Given the description of an element on the screen output the (x, y) to click on. 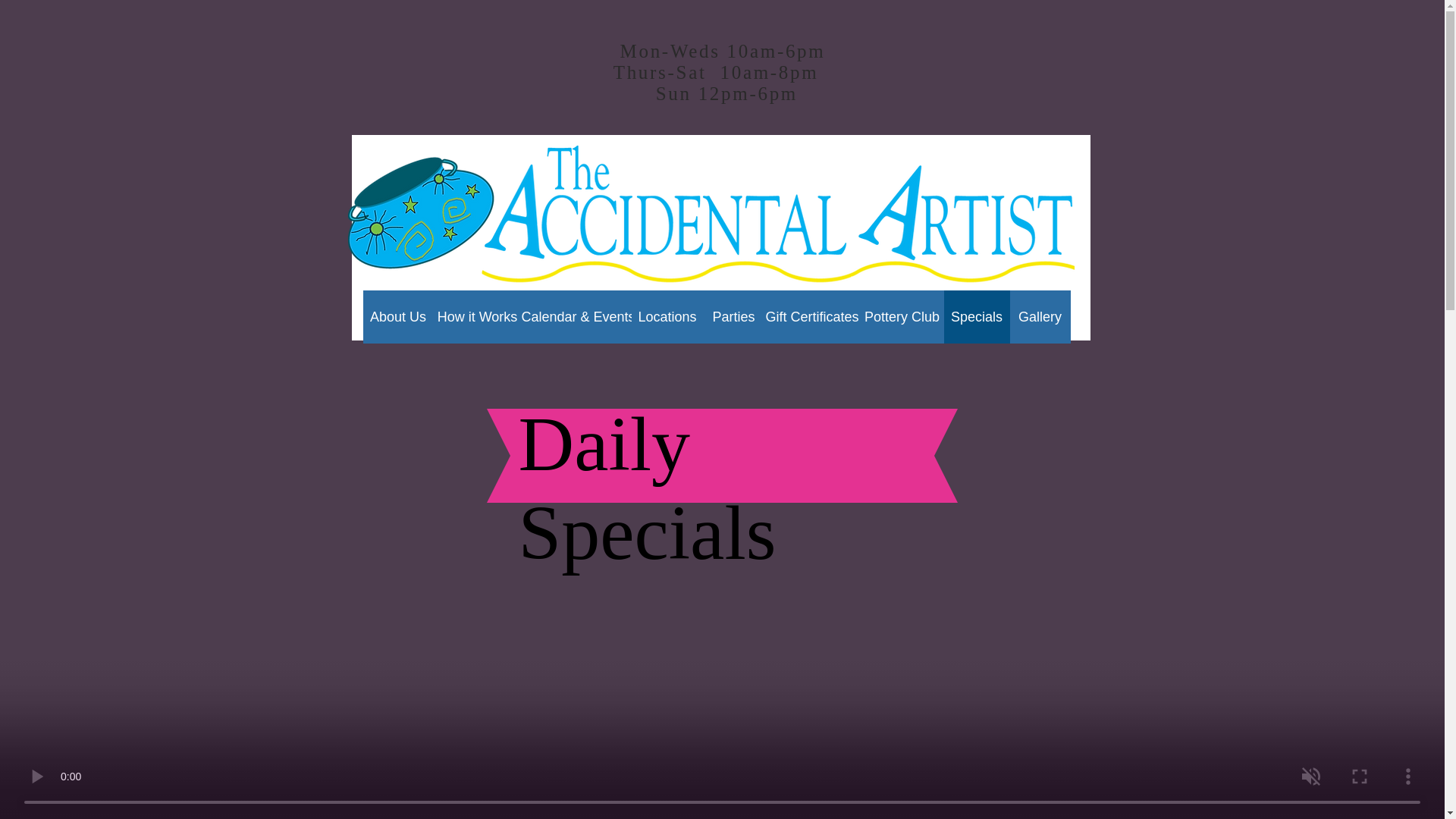
Specials (976, 316)
How it Works (477, 316)
Gift Certificates (812, 316)
About Us (397, 316)
Parties (733, 316)
Pottery Club (901, 316)
Gallery (1040, 316)
Locations (666, 316)
